Given the description of an element on the screen output the (x, y) to click on. 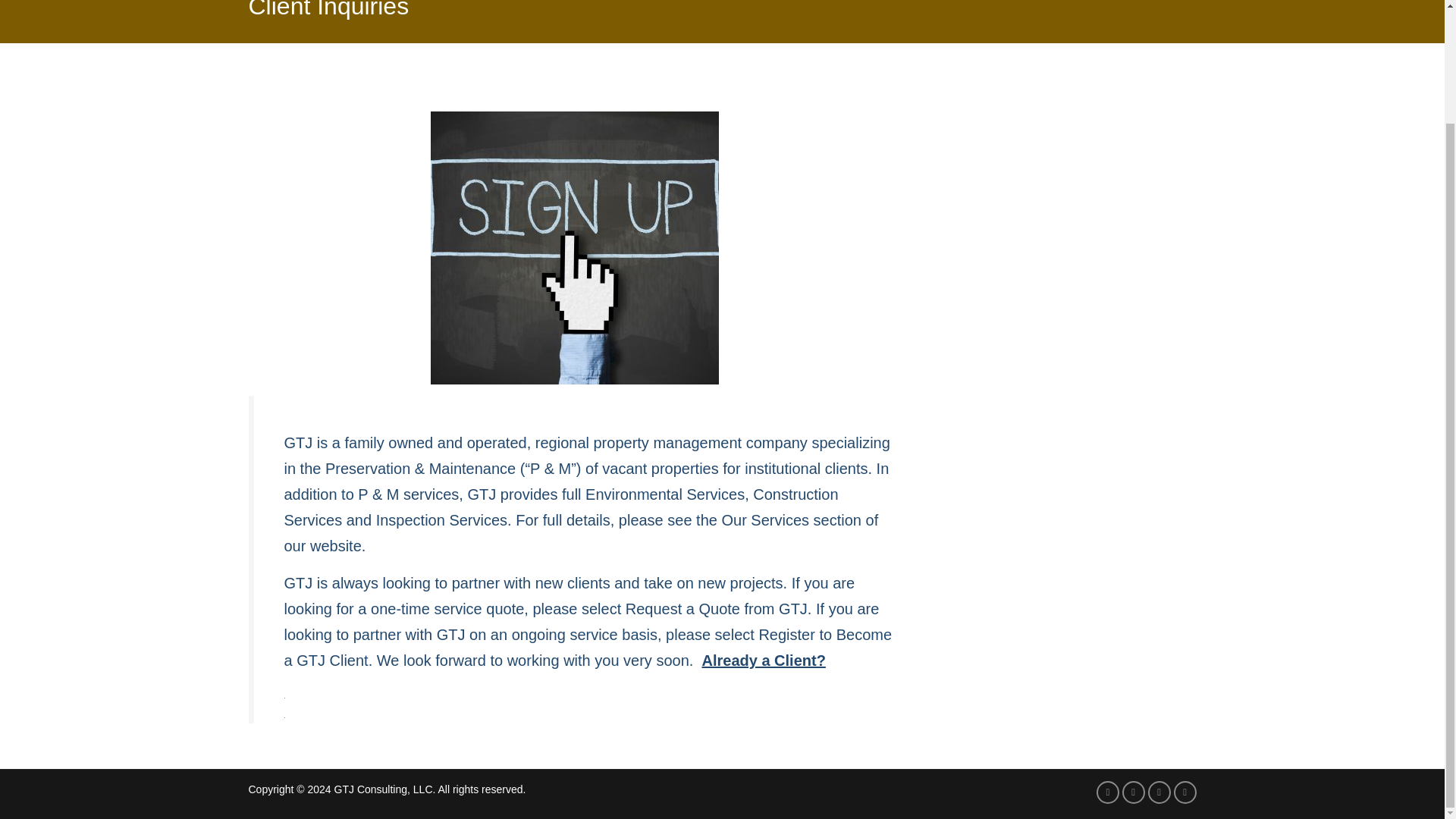
LinkedIn (1184, 792)
FaceBook (1133, 792)
Twitter (1107, 792)
YouTube (1159, 792)
